Given the description of an element on the screen output the (x, y) to click on. 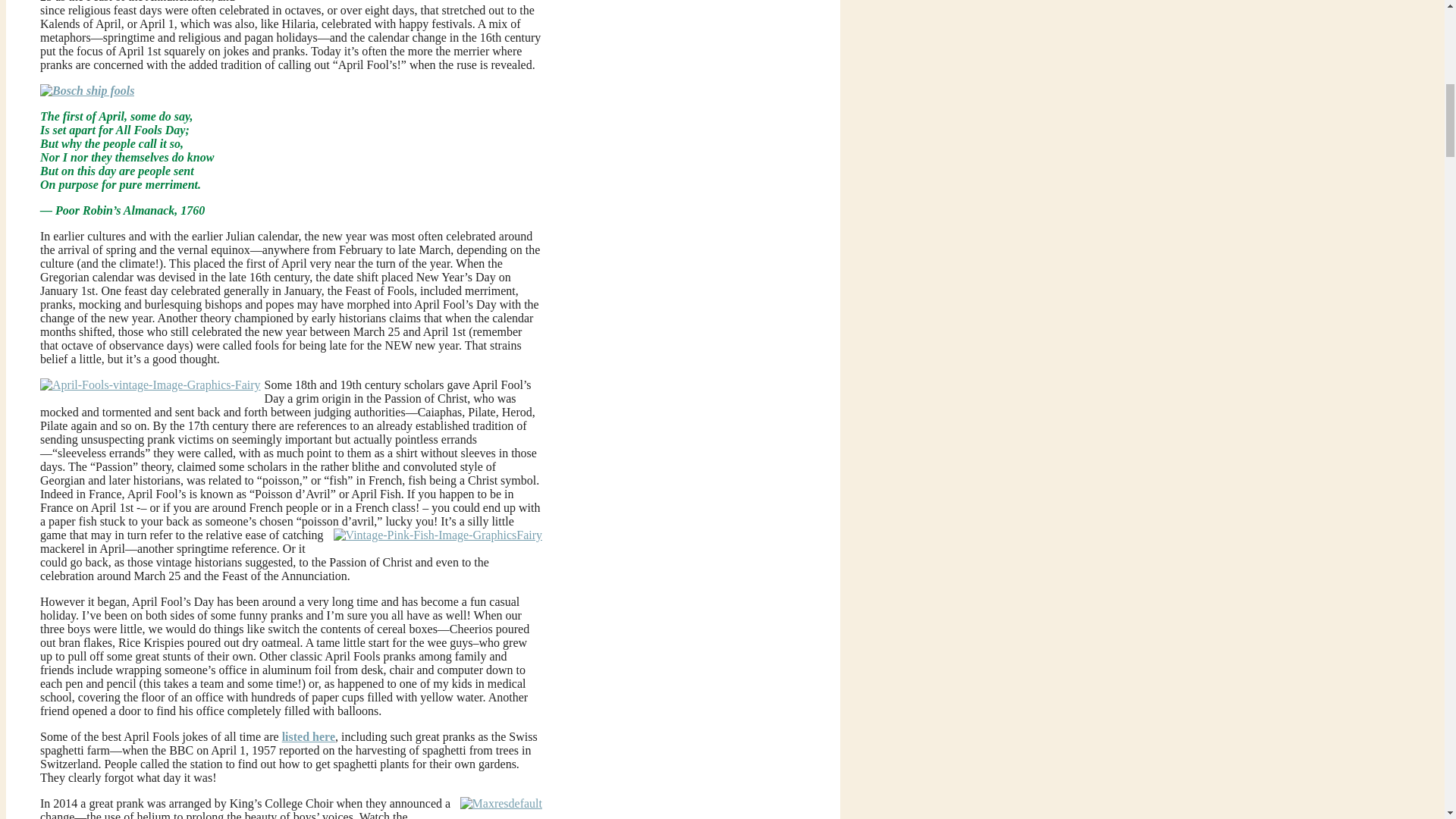
Vintage-Pink-Fish-Image-GraphicsFairy (437, 535)
April-Fools-vintage-Image-Graphics-Fairy (150, 385)
Bosch ship fools (86, 90)
listed here (308, 736)
Maxresdefault (500, 803)
